Given the description of an element on the screen output the (x, y) to click on. 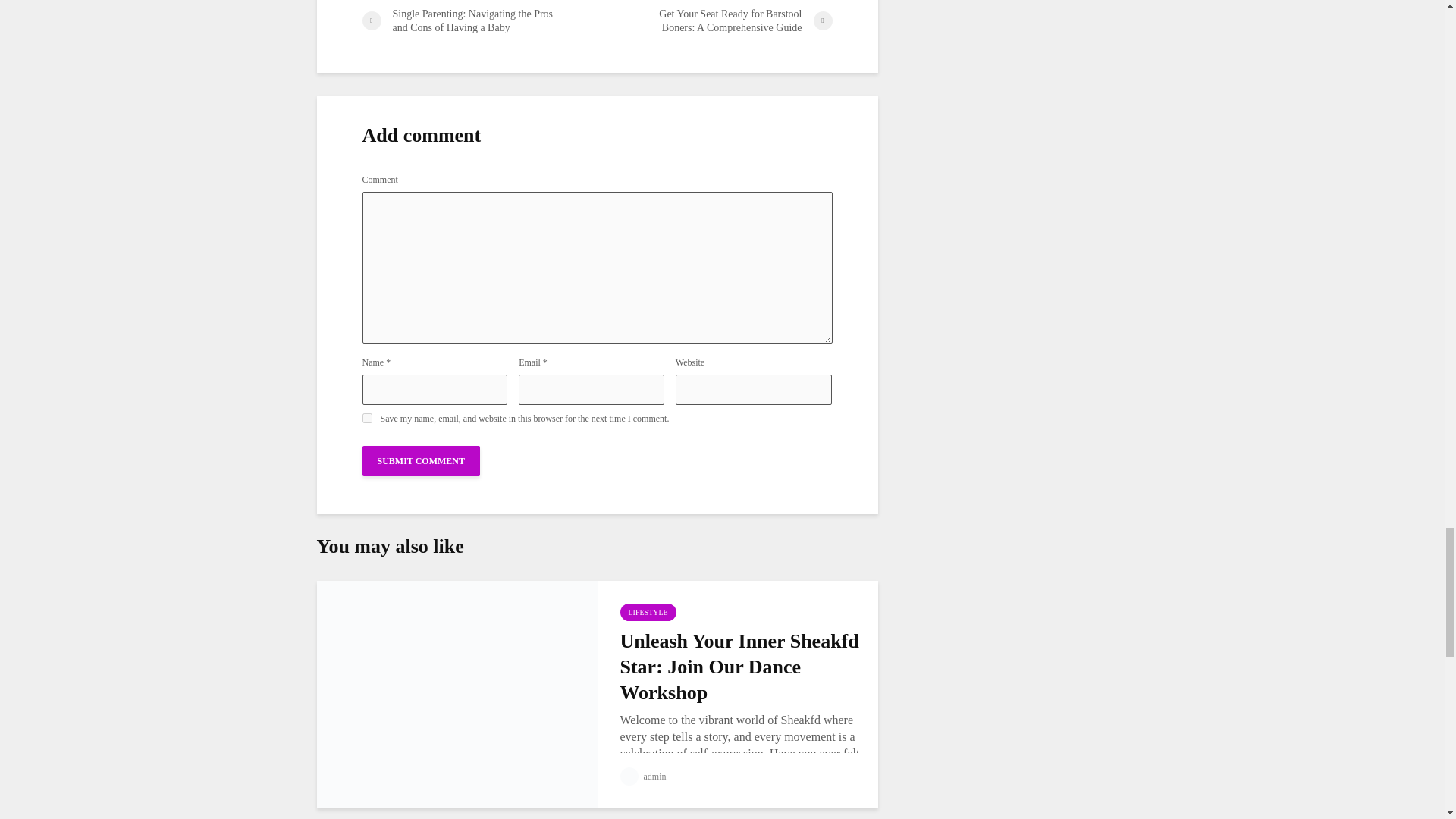
Unleash Your Inner Sheakfd Star: Join Our Dance Workshop (740, 666)
admin (643, 776)
Unleash Your Inner Sheakfd Star: Join Our Dance Workshop (456, 692)
Submit Comment (421, 460)
LIFESTYLE (648, 611)
yes (367, 418)
Submit Comment (421, 460)
